Given the description of an element on the screen output the (x, y) to click on. 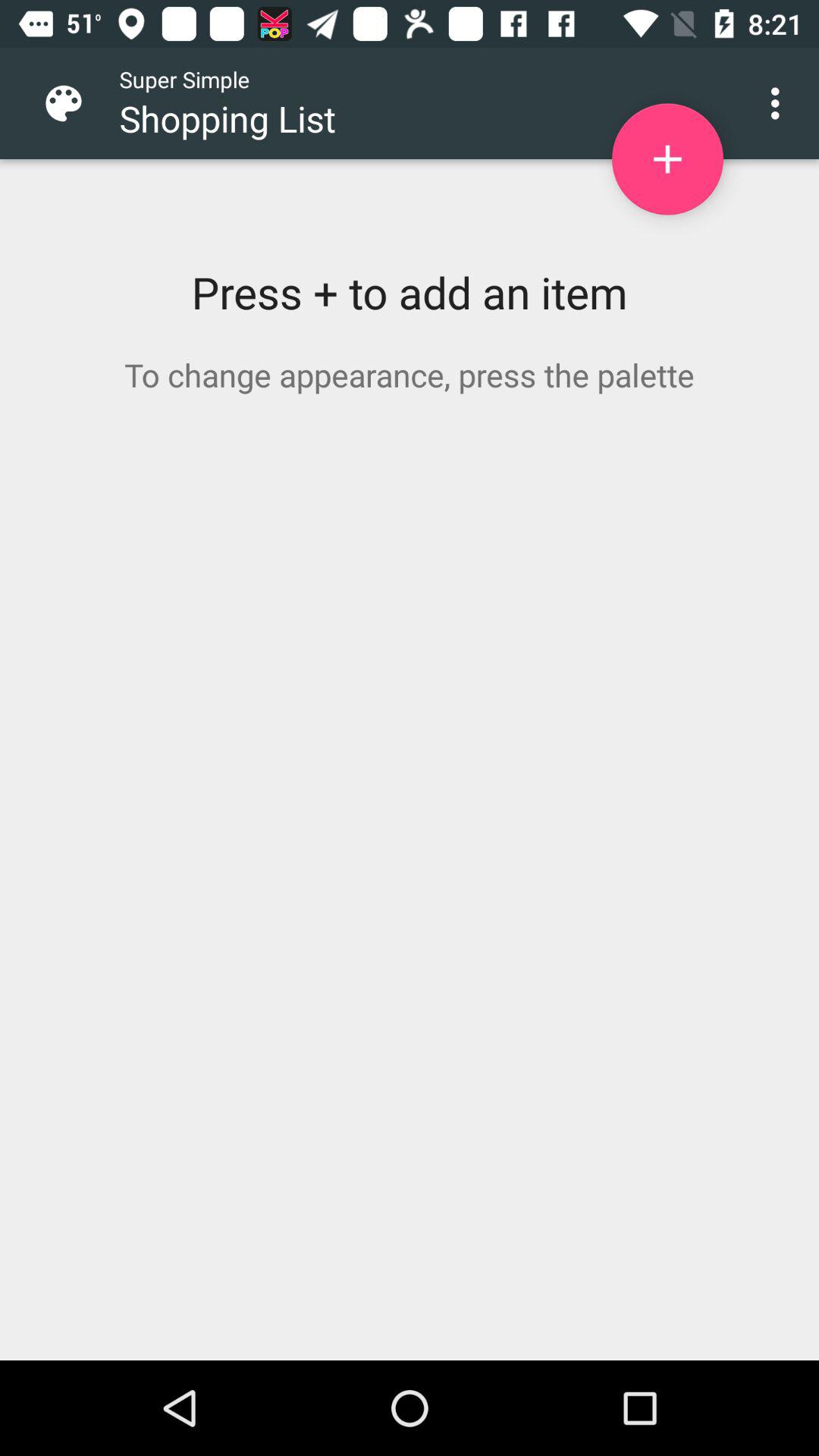
turn on item next to shopping list icon (667, 158)
